Given the description of an element on the screen output the (x, y) to click on. 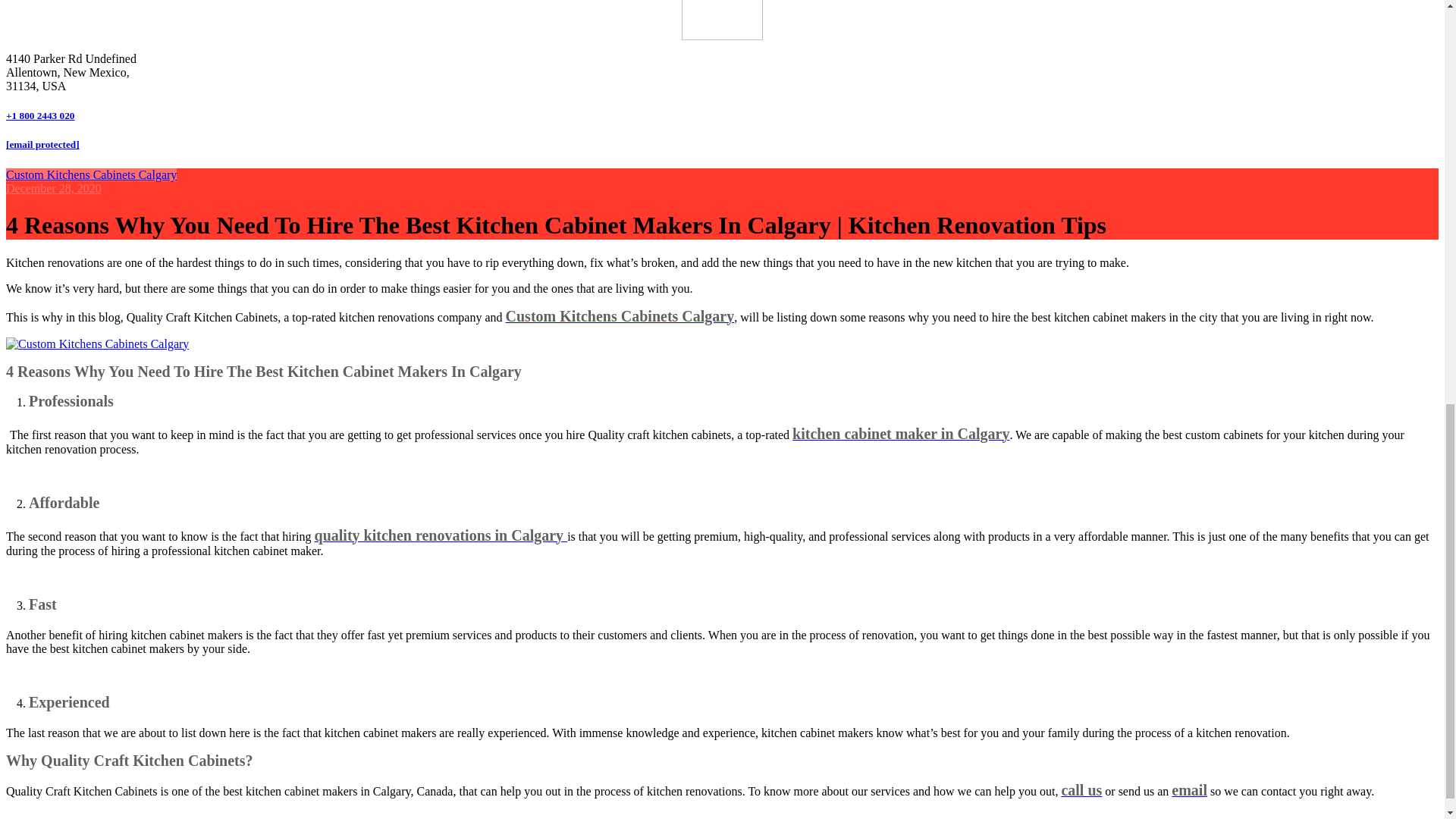
Custom Kitchens Cabinets Calgary (90, 174)
December 28, 2020 (53, 187)
Custom Kitchen Cabinet Calgary (97, 344)
